Given the description of an element on the screen output the (x, y) to click on. 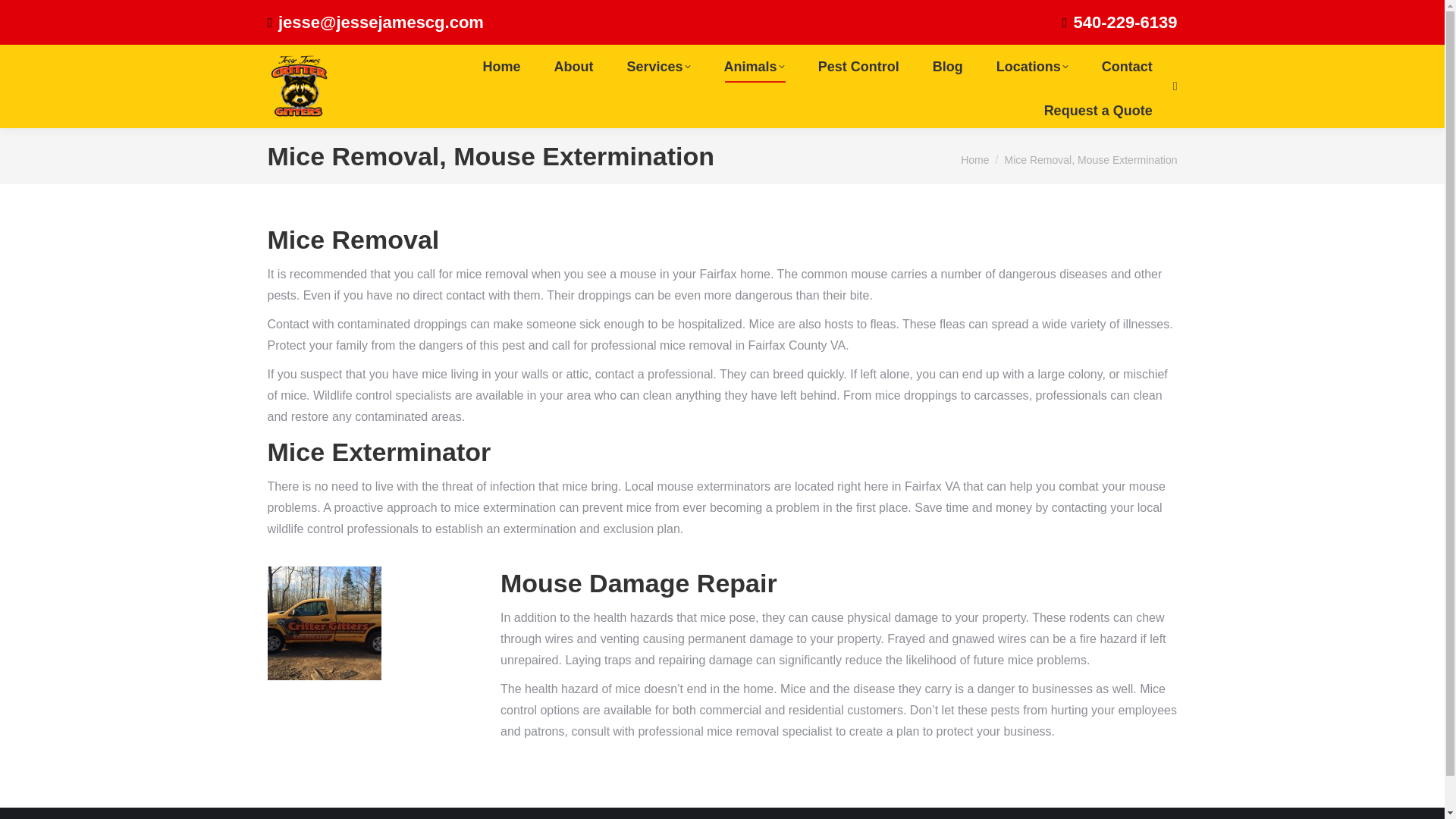
Animals (753, 66)
jesse james wildlife control (323, 623)
Home (501, 66)
Blog (947, 66)
Home (974, 159)
Services (658, 66)
About (573, 66)
